Given the description of an element on the screen output the (x, y) to click on. 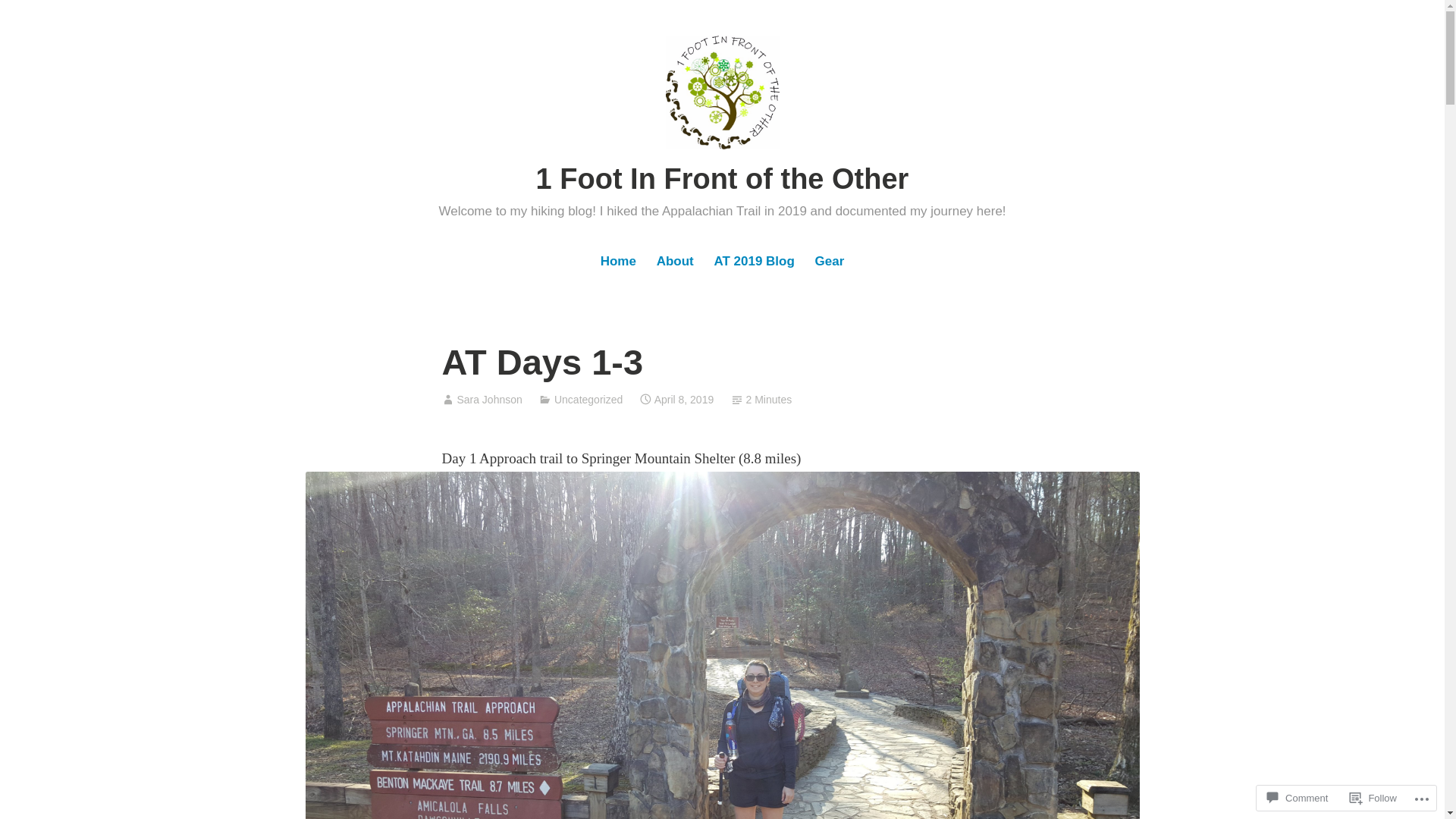
Sara Johnson Element type: text (488, 399)
AT 2019 Blog Element type: text (754, 261)
Comment Element type: text (1297, 797)
Home Element type: text (617, 261)
Follow Element type: text (1372, 797)
Uncategorized Element type: text (588, 399)
Gear Element type: text (829, 261)
About Element type: text (674, 261)
1 Foot In Front of the Other Element type: text (722, 178)
